Given the description of an element on the screen output the (x, y) to click on. 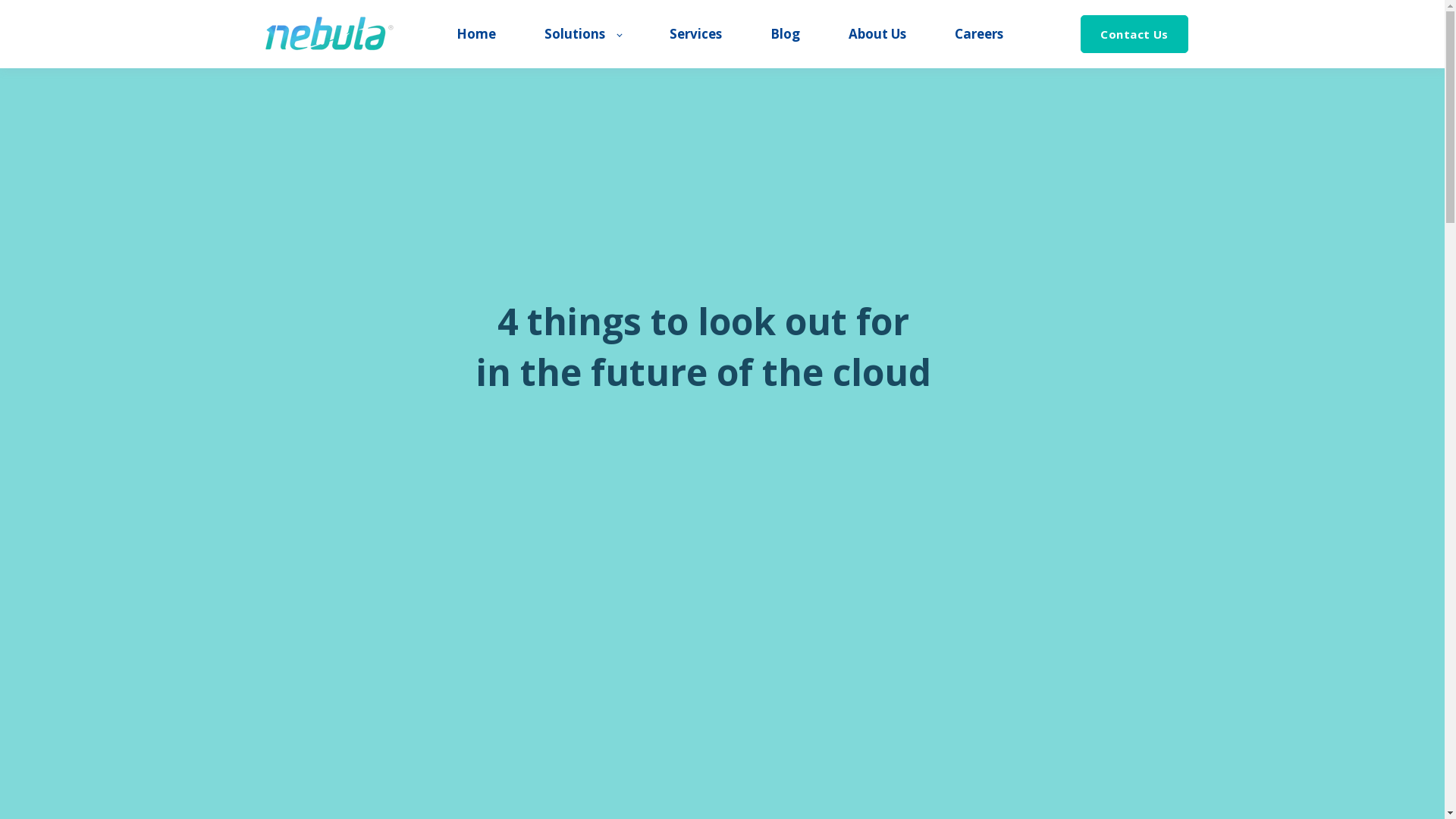
Blog Element type: text (785, 34)
Contact Us Element type: text (1134, 34)
Careers Element type: text (978, 34)
Services Element type: text (695, 34)
Solutions Element type: text (582, 34)
Home Element type: text (475, 34)
About Us Element type: text (877, 34)
